Given the description of an element on the screen output the (x, y) to click on. 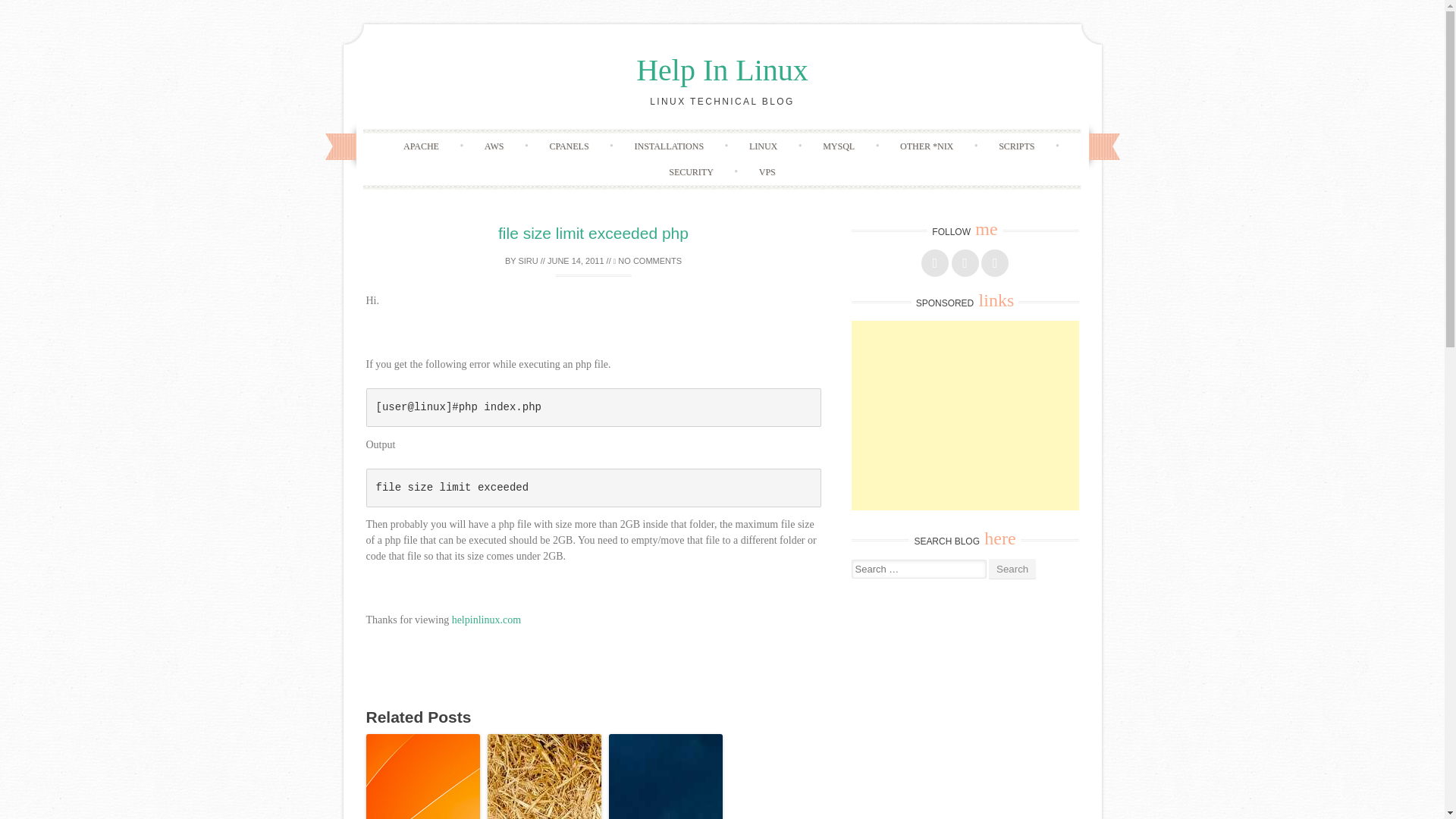
Follow me on Twitter (964, 262)
INSTALLATIONS (668, 145)
Help In Linux (722, 69)
Follow me on Facebook (935, 262)
12:37 pm (575, 260)
SECURITY (691, 171)
AWS (493, 145)
SCRIPTS (1015, 145)
CPANELS (569, 145)
VPS (767, 171)
Advertisement (964, 415)
LINUX (762, 145)
NO COMMENTS (646, 260)
MYSQL (838, 145)
JUNE 14, 2011 (575, 260)
